Given the description of an element on the screen output the (x, y) to click on. 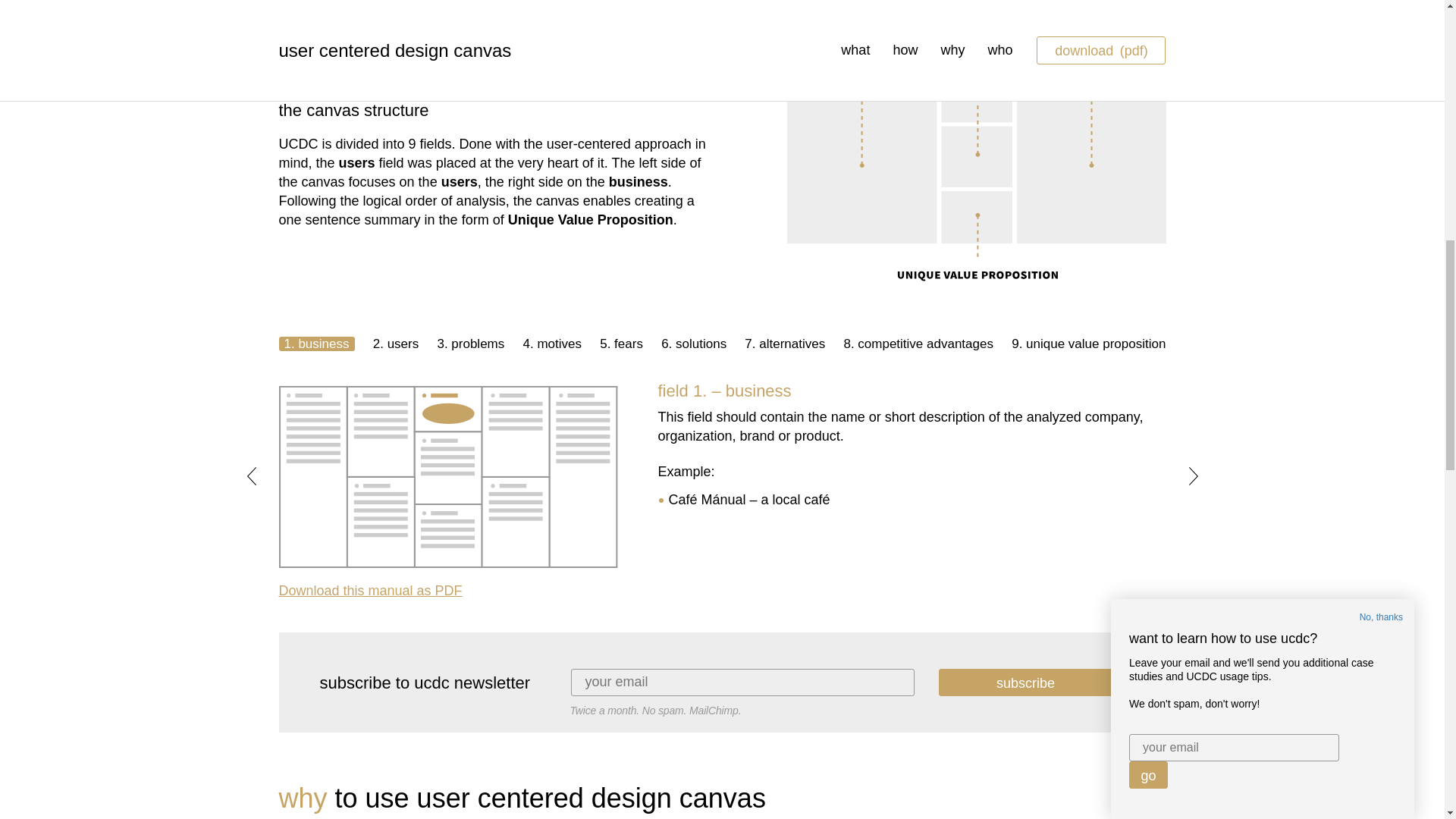
6. solutions (693, 343)
subscribe (1026, 682)
5. fears (621, 343)
7. alternatives (1088, 343)
3. problems (784, 343)
1. business (469, 343)
Download this manual as PDF (317, 343)
4. motives (371, 590)
2. users (551, 343)
